Given the description of an element on the screen output the (x, y) to click on. 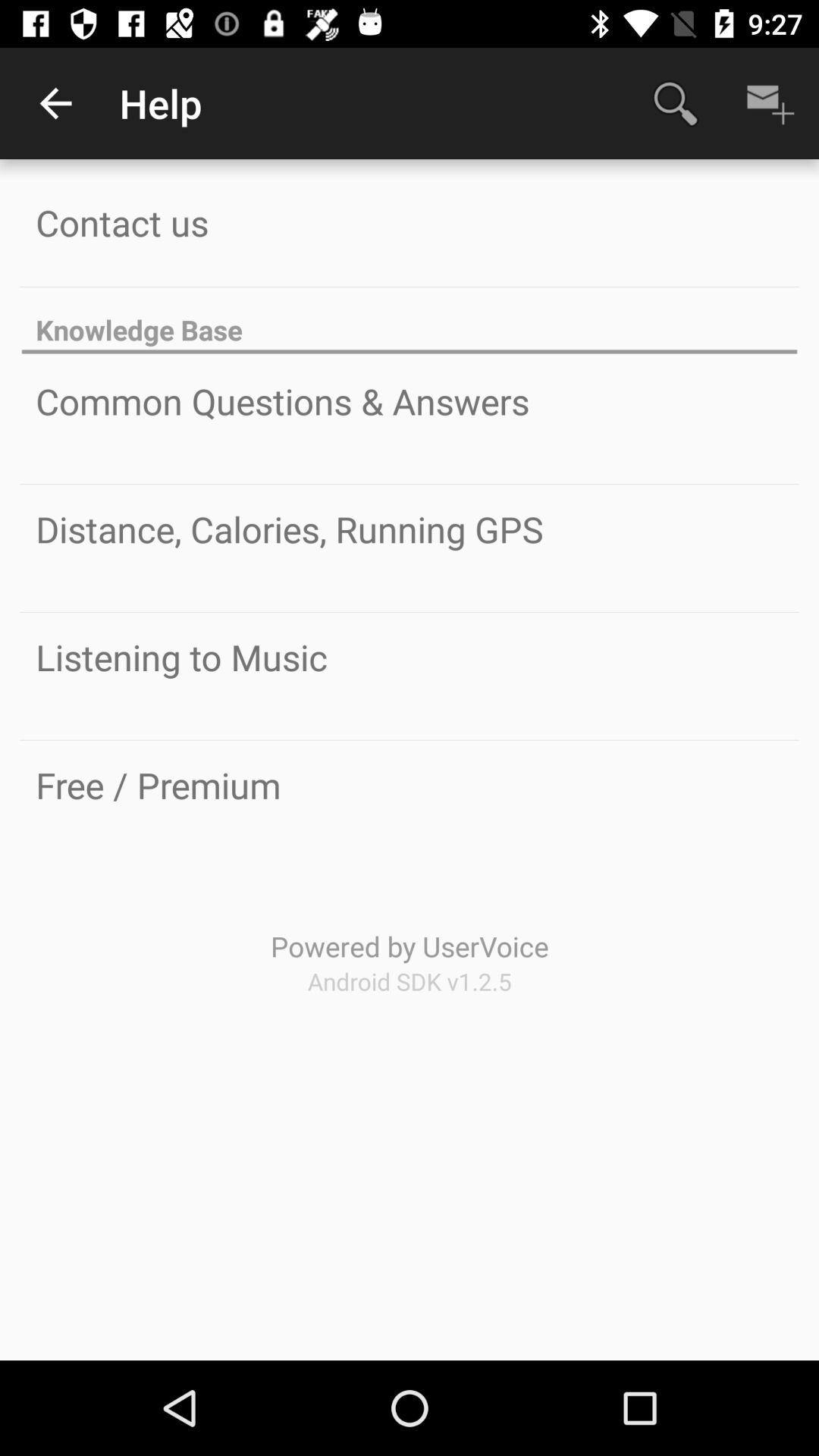
tap the icon below powered by uservoice icon (409, 981)
